Given the description of an element on the screen output the (x, y) to click on. 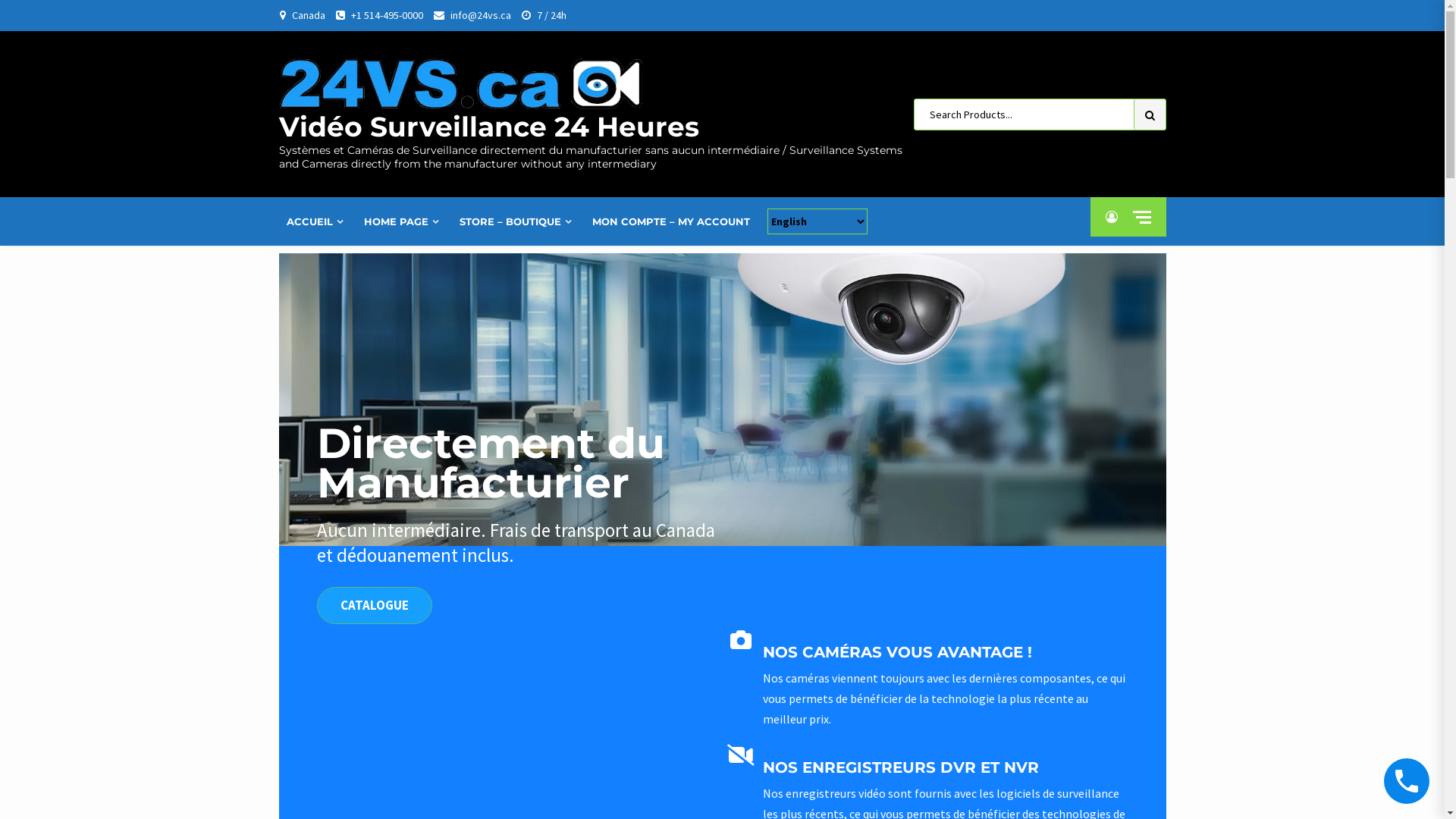
+1 514-495-0000 Element type: text (386, 14)
HOME PAGE Element type: text (403, 221)
info@24vs.ca Element type: text (480, 14)
CATALOGUE Element type: text (374, 605)
ACCUEIL Element type: text (316, 221)
